Given the description of an element on the screen output the (x, y) to click on. 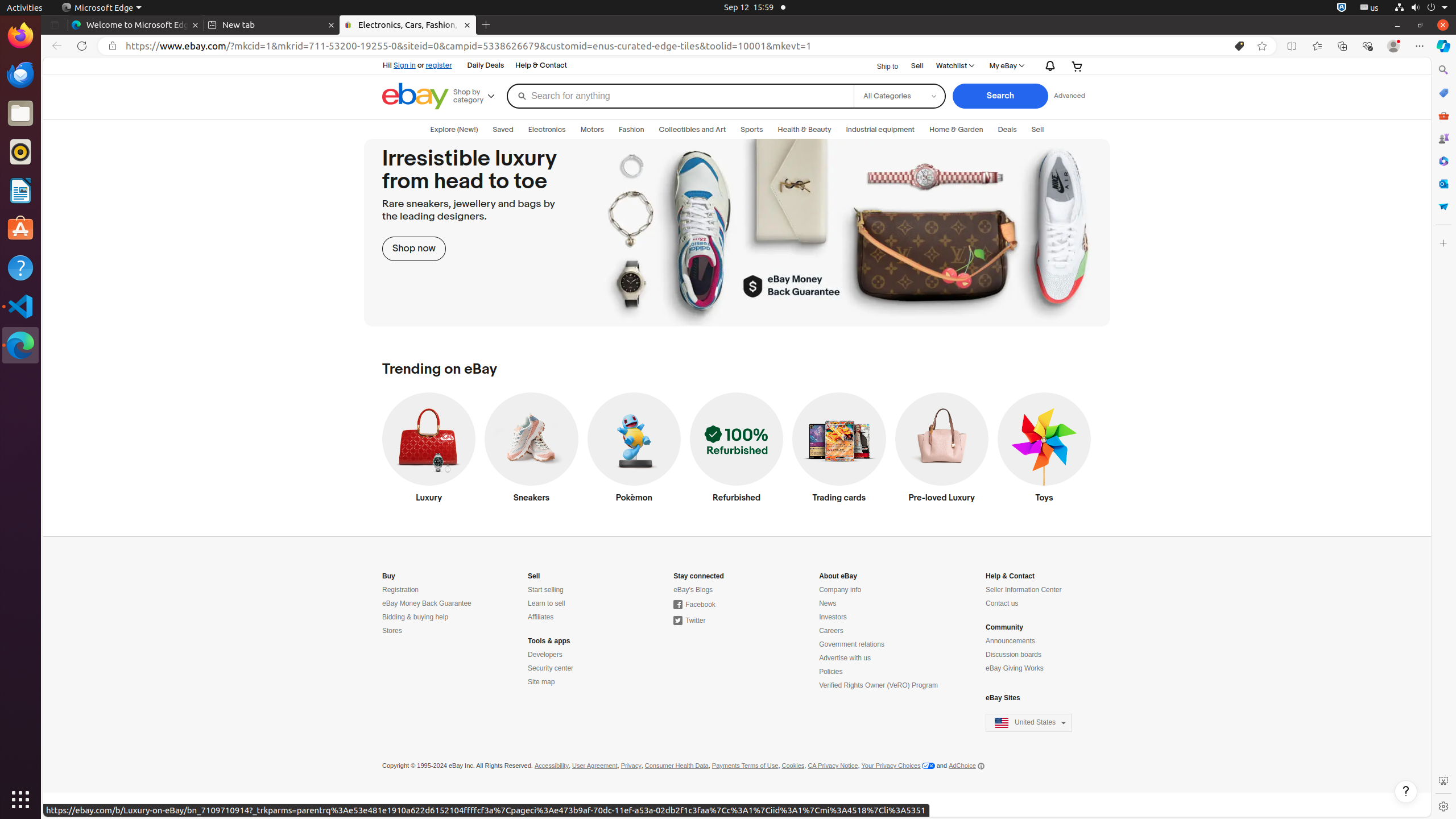
User Agreement Element type: link (594, 765)
Home & Garden Element type: link (956, 129)
Registration Element type: link (400, 589)
Outlook Element type: push-button (1443, 183)
Show Applications Element type: toggle-button (20, 799)
